Given the description of an element on the screen output the (x, y) to click on. 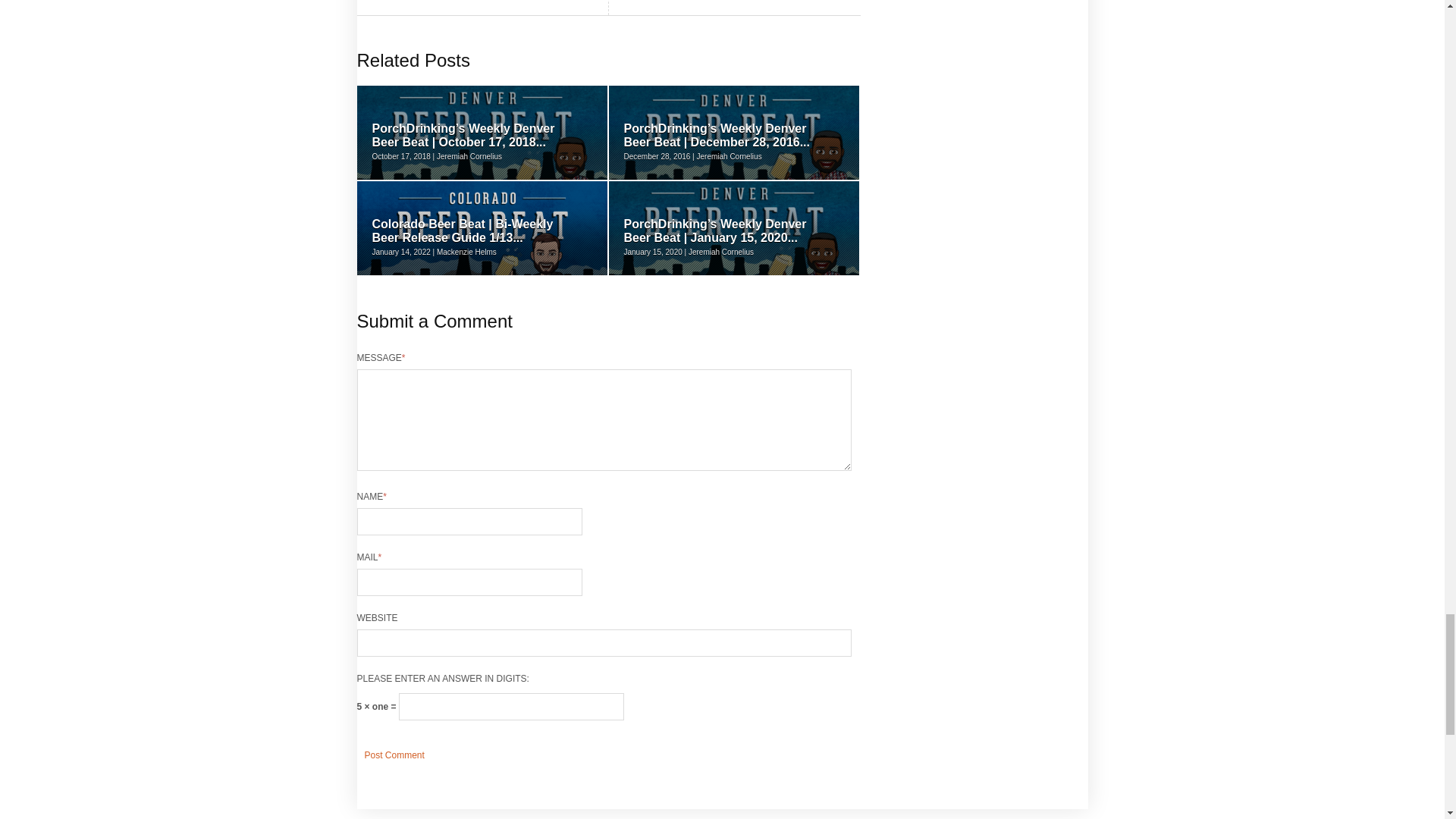
Post Comment (393, 754)
